Given the description of an element on the screen output the (x, y) to click on. 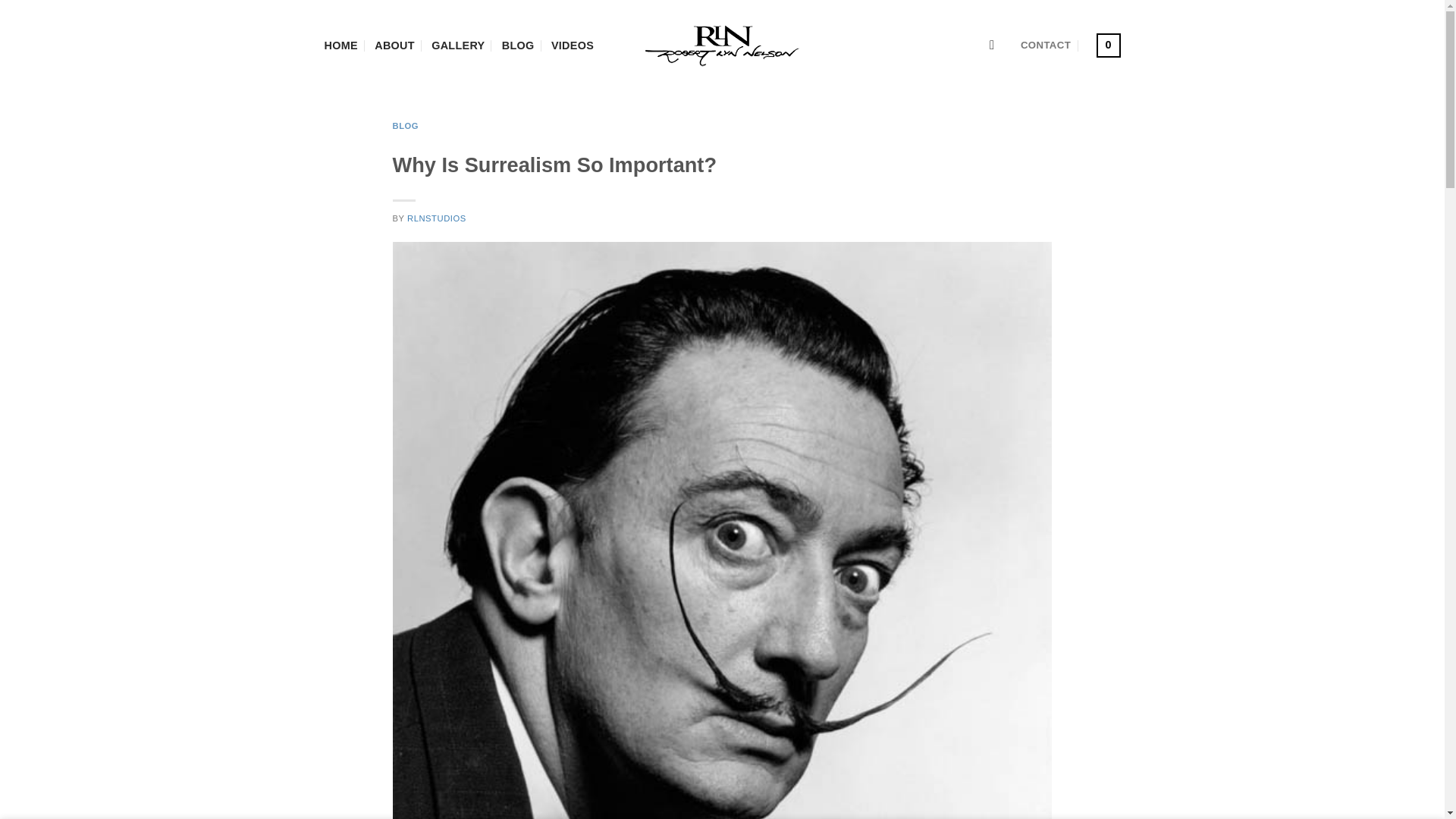
GALLERY (457, 44)
HOME (341, 44)
BLOG (518, 44)
ABOUT (394, 44)
VIDEOS (572, 44)
CONTACT (1045, 45)
BLOG (406, 125)
RLNSTUDIOS (436, 217)
